Given the description of an element on the screen output the (x, y) to click on. 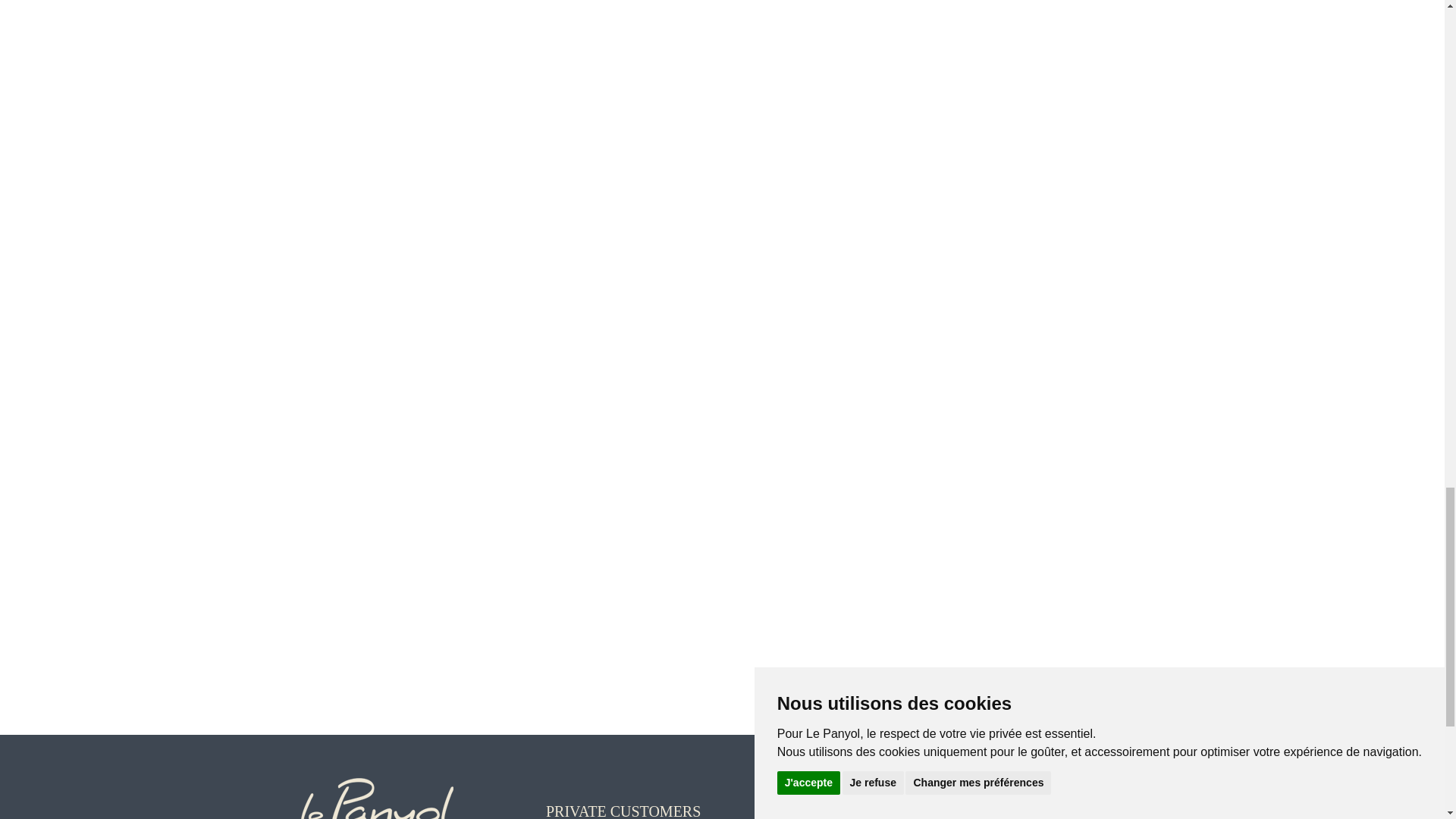
Le Panyol (376, 788)
